Given the description of an element on the screen output the (x, y) to click on. 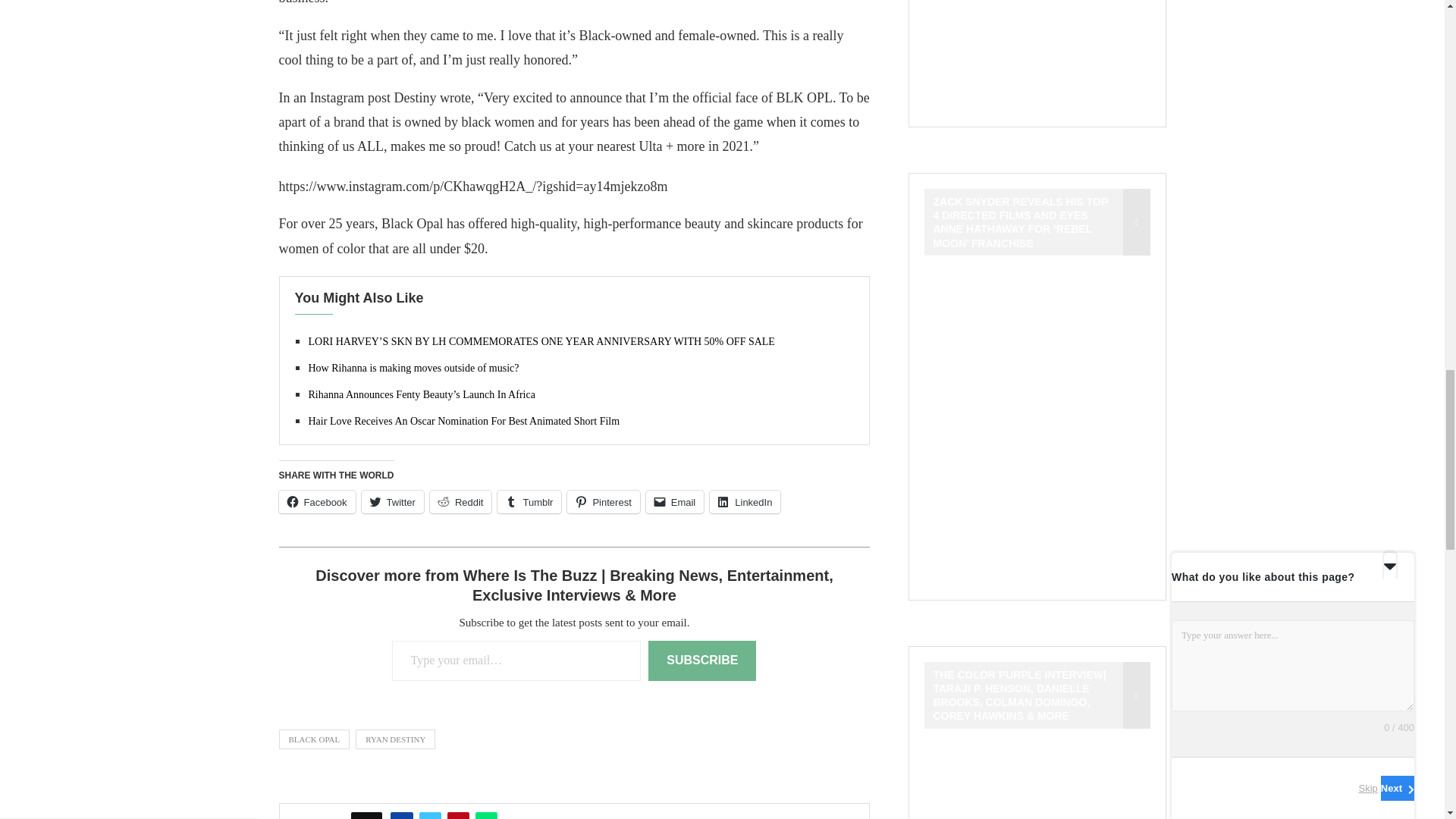
Click to share on Tumblr (528, 501)
Click to share on LinkedIn (745, 501)
Click to share on Pinterest (603, 501)
Click to share on Twitter (392, 501)
Click to email a link to a friend (675, 501)
Please fill in this field. (515, 660)
Click to share on Reddit (460, 501)
Click to share on Facebook (317, 501)
